Given the description of an element on the screen output the (x, y) to click on. 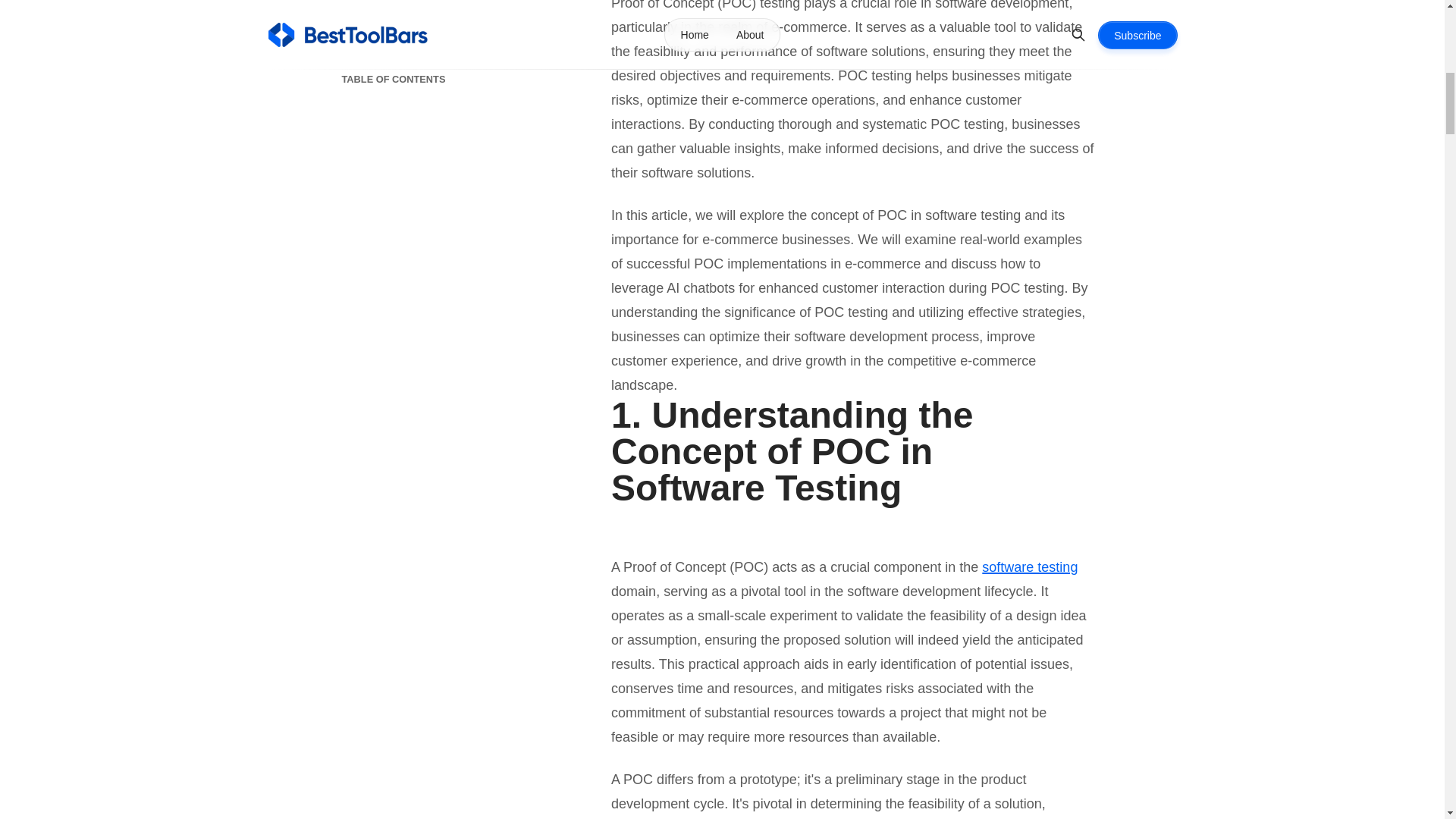
software testing (1029, 566)
